Given the description of an element on the screen output the (x, y) to click on. 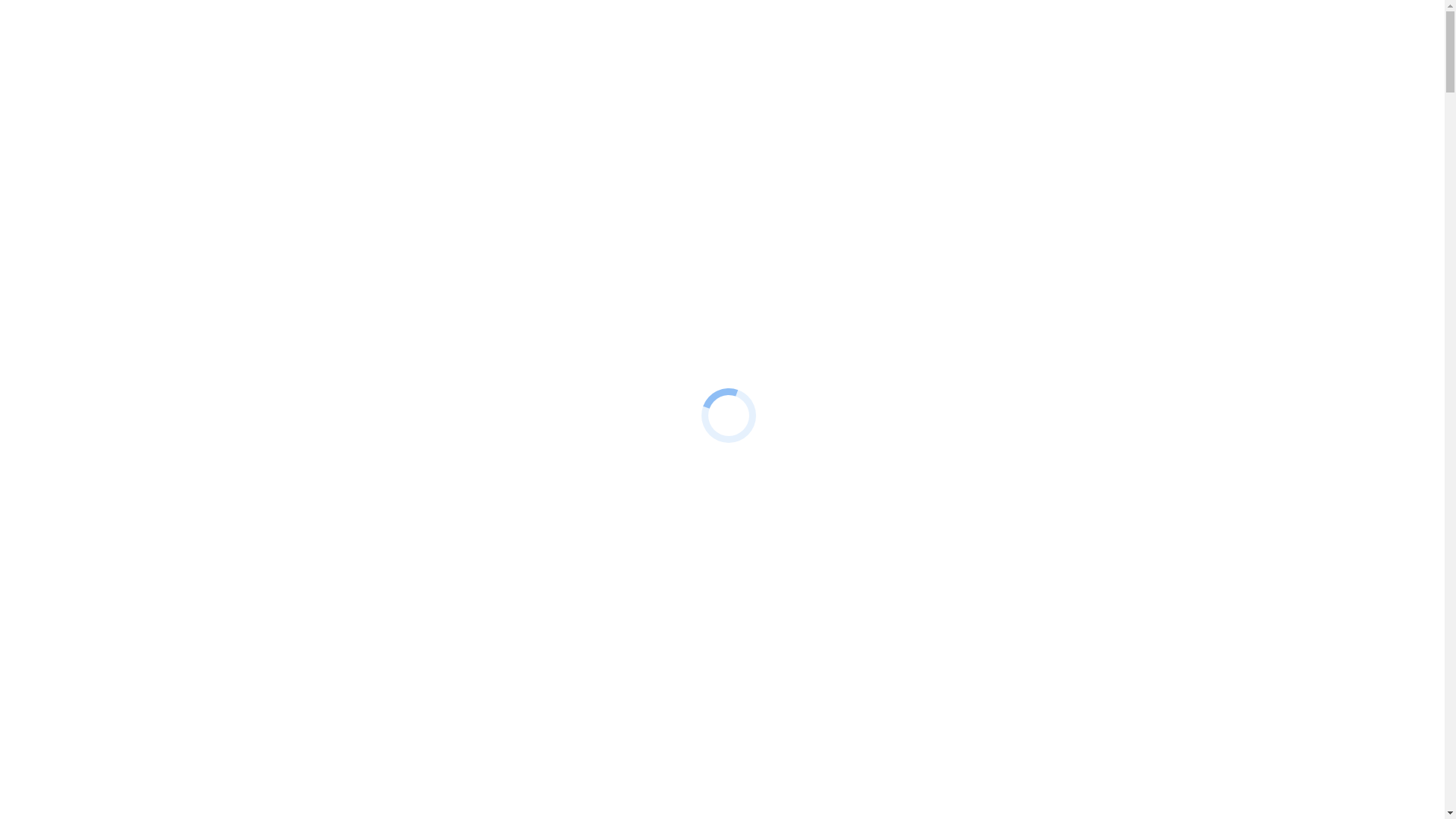
Bosanski Element type: text (58, 486)
Protetika Element type: text (88, 174)
Estetska stomatologija Element type: text (120, 418)
Blog Element type: text (47, 336)
Kontakt Element type: text (55, 256)
Kontakt Element type: text (55, 473)
Clearcorrect Element type: text (96, 363)
Implantologija Element type: text (102, 160)
Instagram page opens in new window Element type: text (279, 39)
Blog Element type: text (47, 119)
Bosanski Element type: text (58, 269)
Dijagnostika Element type: text (97, 188)
English Element type: text (84, 500)
Clearcorrect Element type: text (96, 147)
Ortodoncija Element type: text (95, 215)
+387 61 677 677 Element type: text (47, 25)
Cjenovnik Element type: text (61, 242)
Facebook page opens in new window Element type: text (97, 39)
Ortodoncija Element type: text (95, 432)
Usluge Element type: text (53, 133)
Skip to content Element type: text (42, 12)
English Element type: text (84, 283)
Cjenovnik Element type: text (61, 459)
Dijagnostika Element type: text (97, 404)
Protetika Element type: text (88, 391)
O nama Element type: text (55, 106)
Estetska stomatologija Element type: text (120, 201)
O nama Element type: text (55, 322)
Usluge Element type: text (53, 350)
Implantologija Element type: text (102, 377)
